Given the description of an element on the screen output the (x, y) to click on. 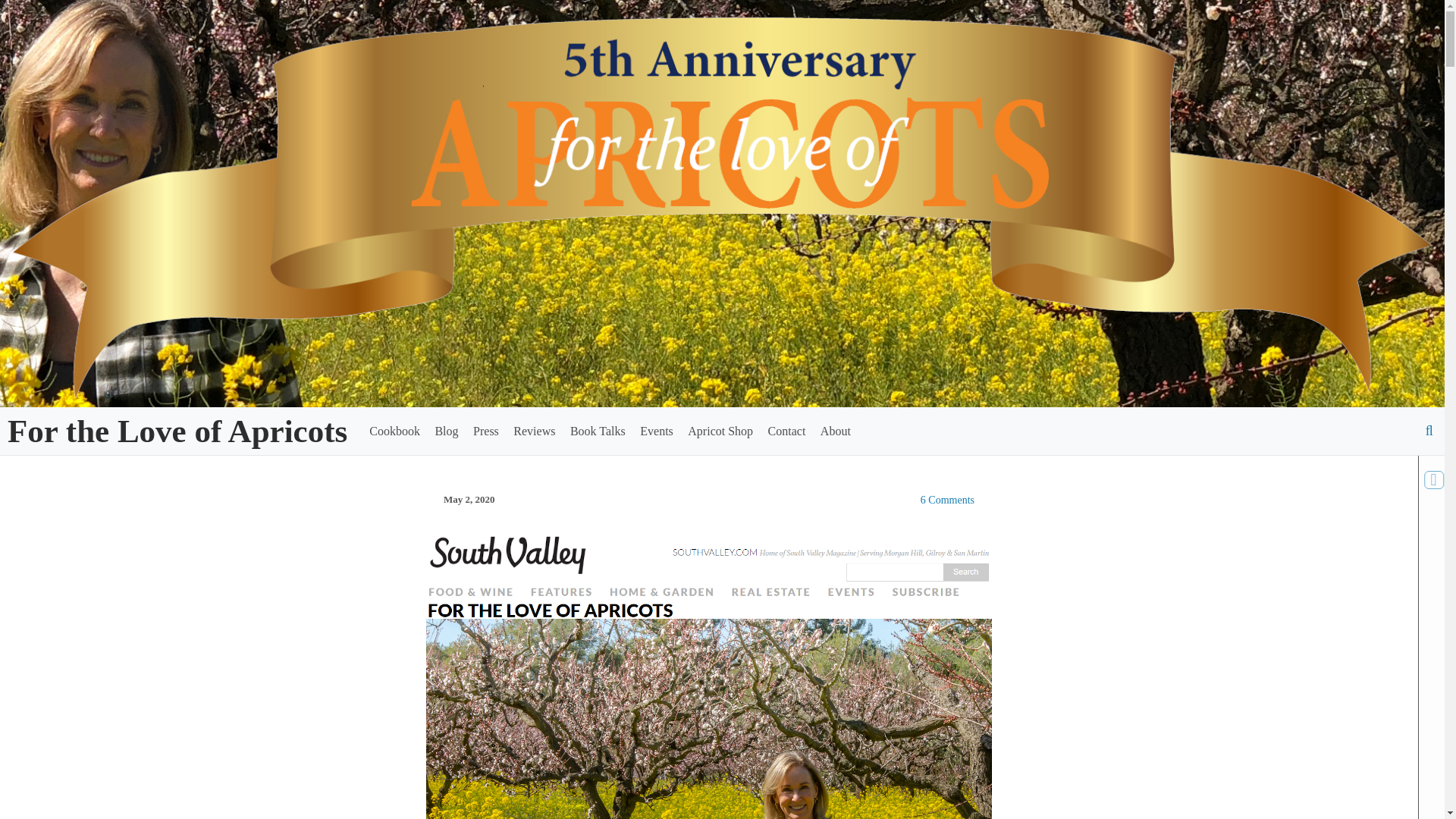
Apricot Shop (719, 431)
For the Love of Apricots (177, 431)
6 Comments (947, 500)
Cookbook (394, 431)
Book Talks (598, 431)
